Given the description of an element on the screen output the (x, y) to click on. 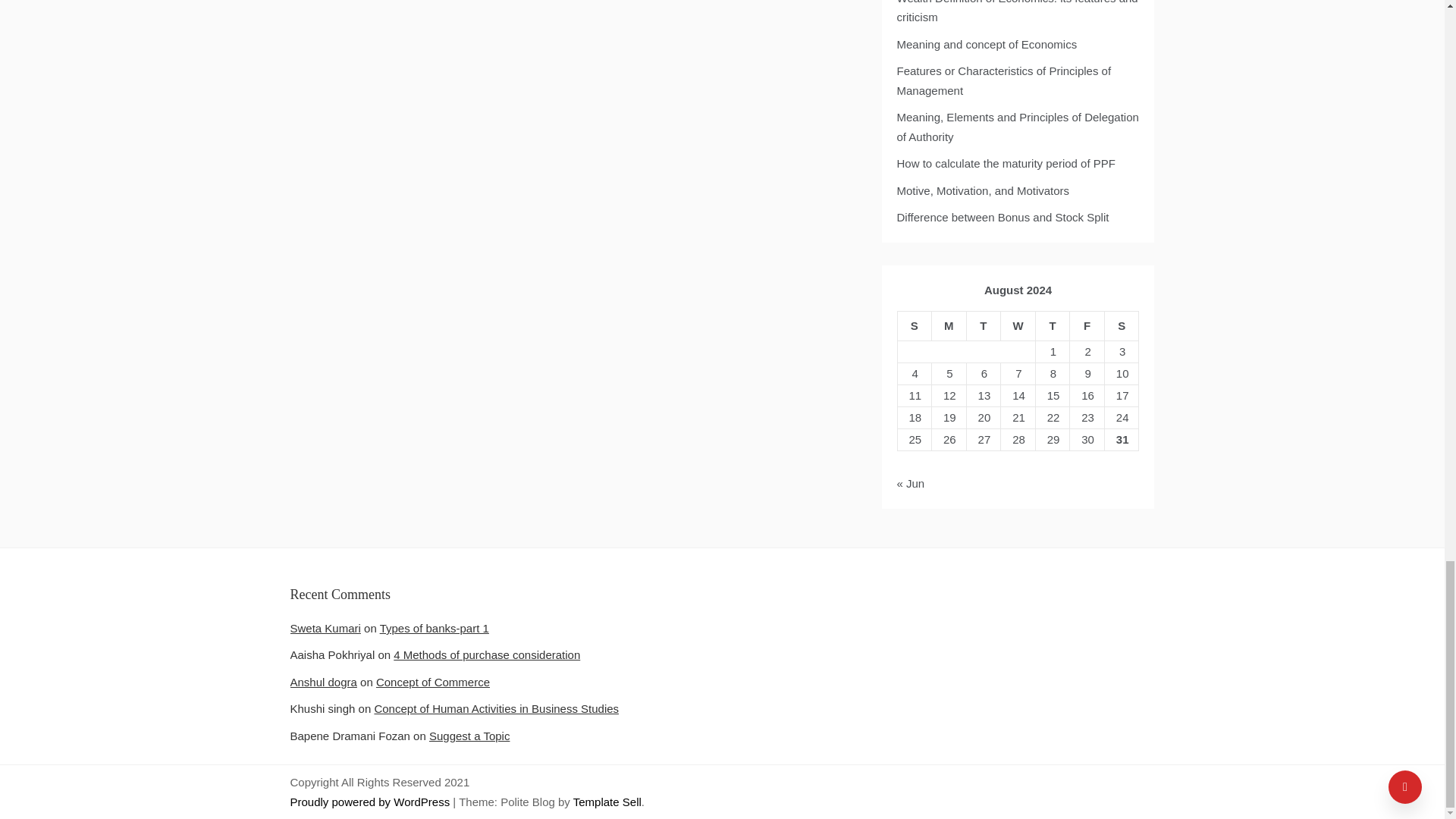
Wednesday (1018, 326)
Thursday (1052, 326)
Sunday (913, 326)
Monday (948, 326)
Friday (1087, 326)
Saturday (1120, 326)
Tuesday (983, 326)
